Given the description of an element on the screen output the (x, y) to click on. 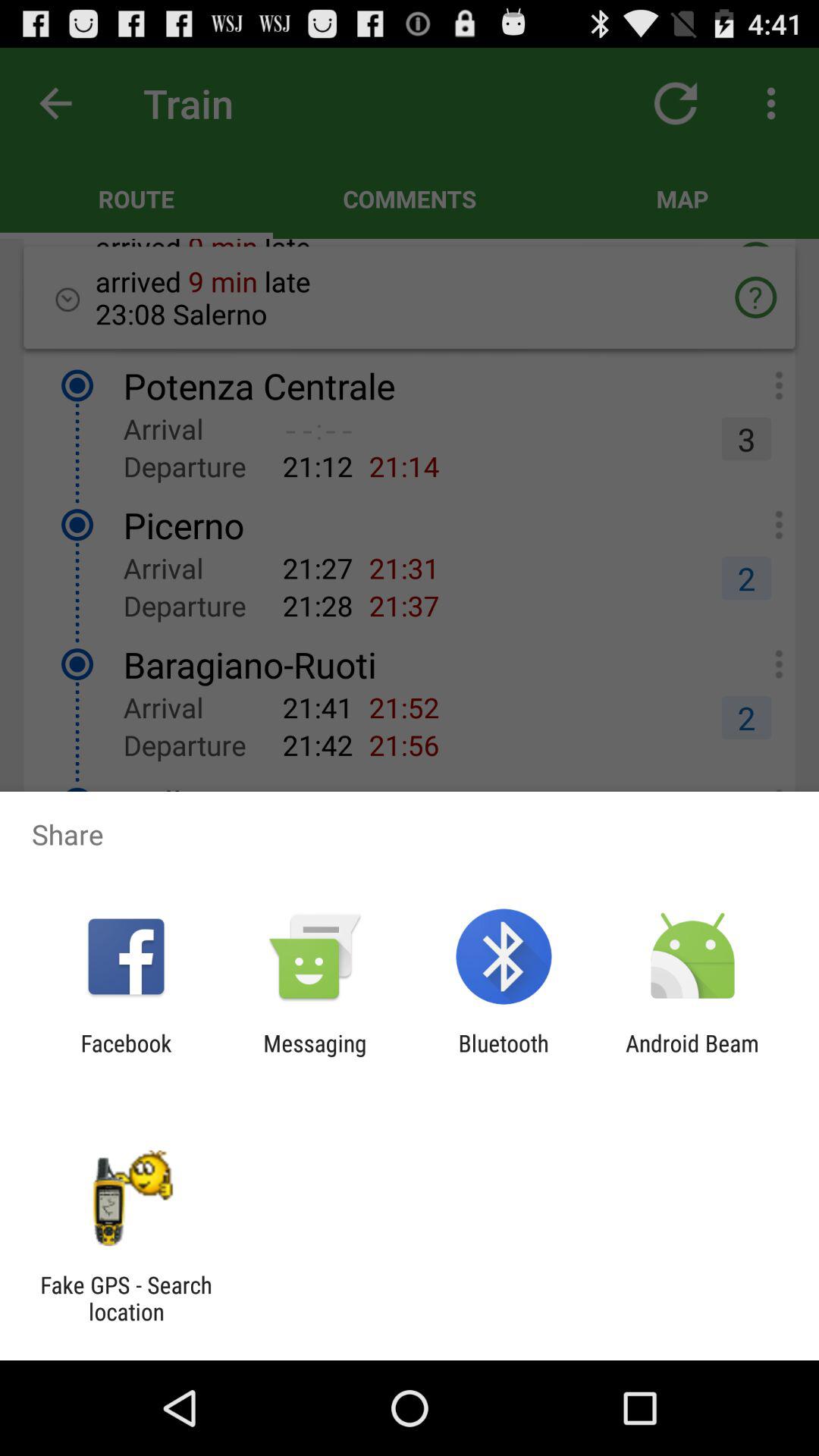
launch the icon next to bluetooth icon (314, 1056)
